Given the description of an element on the screen output the (x, y) to click on. 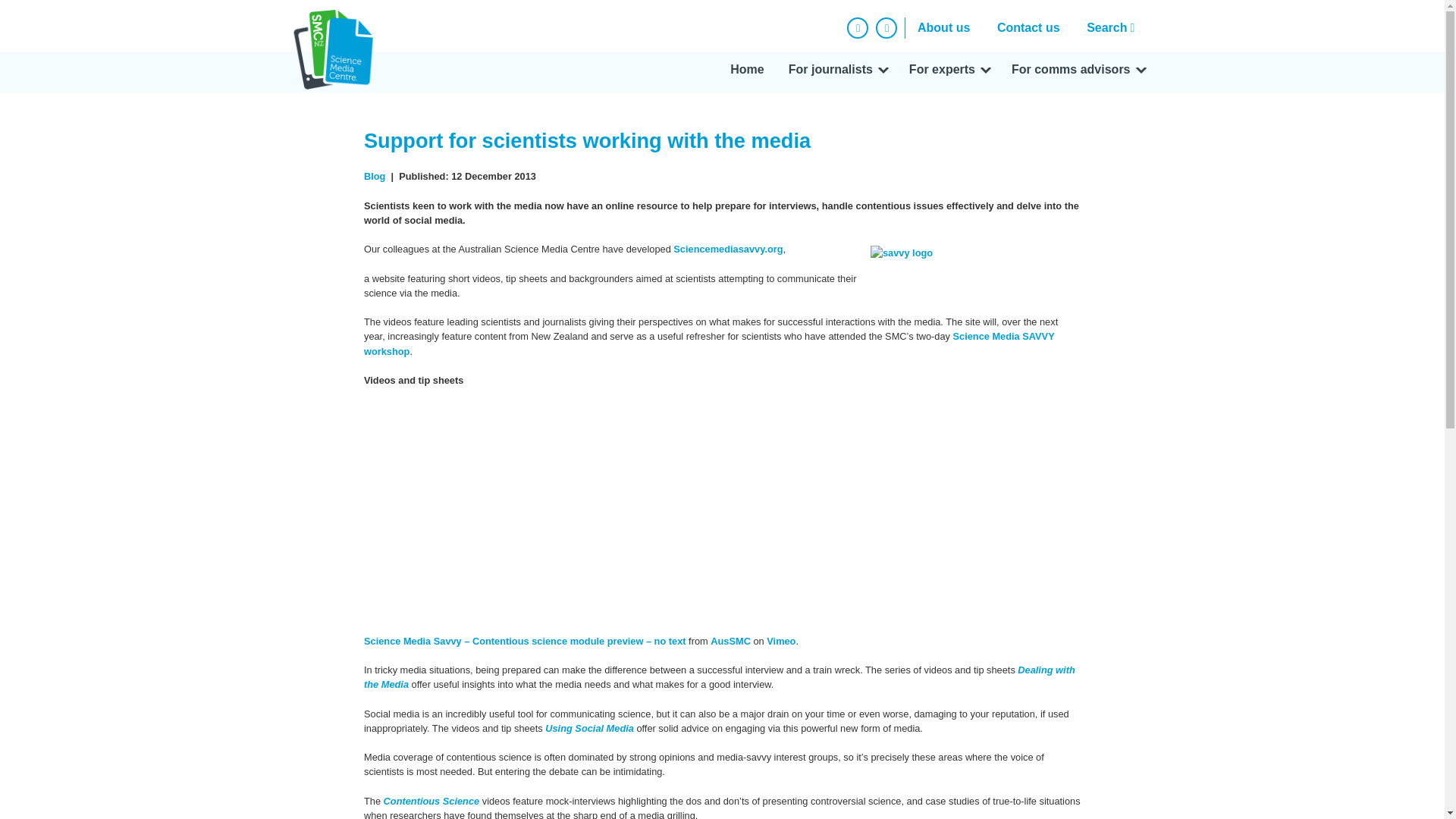
Home (746, 71)
For comms advisors (1076, 71)
Search (1114, 27)
Twitter (886, 27)
Contact us (1028, 27)
For experts (947, 71)
Facebook (857, 27)
For journalists (836, 71)
About us (943, 27)
